Given the description of an element on the screen output the (x, y) to click on. 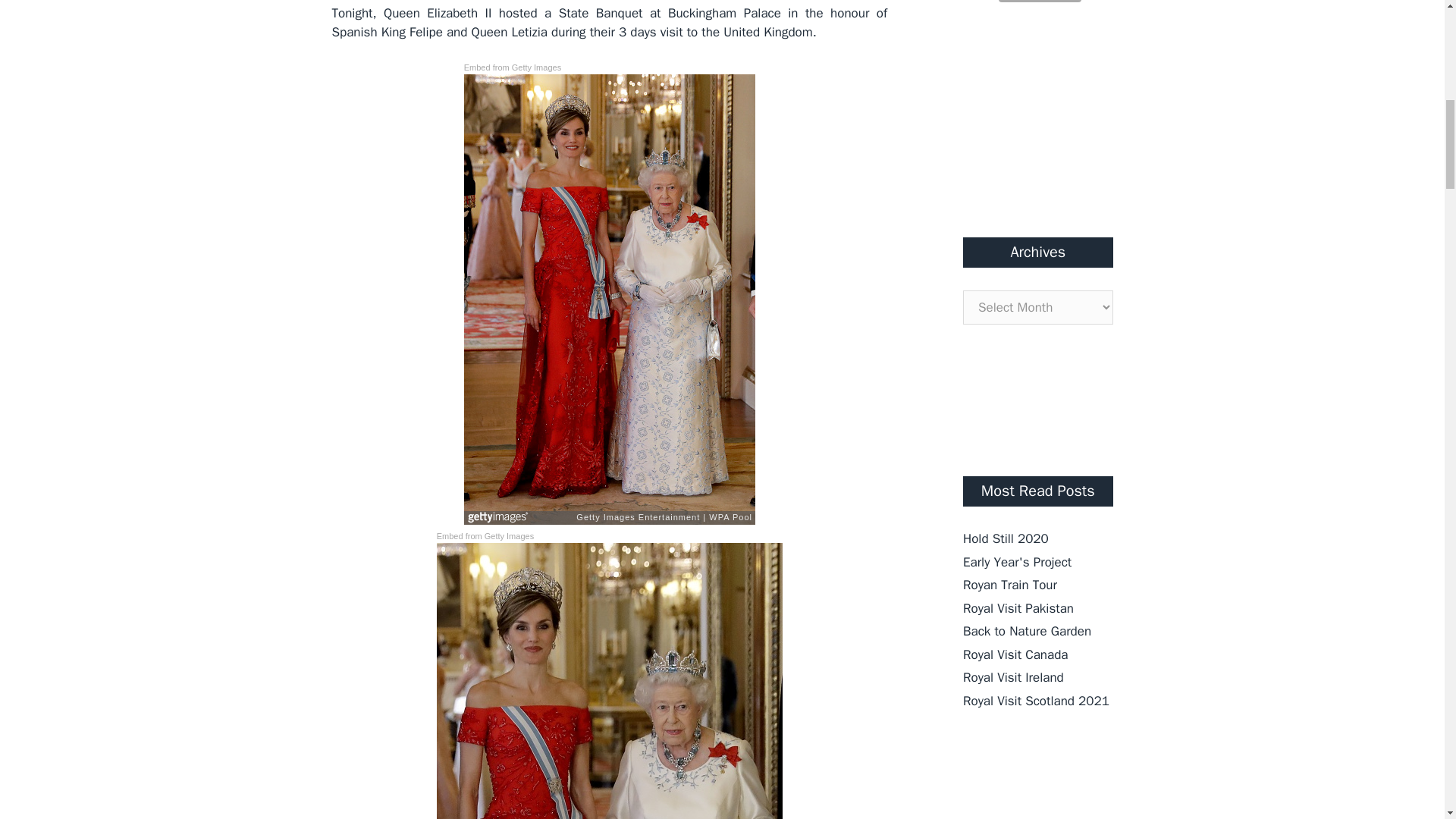
Subscribe (1039, 1)
Embed from Getty Images (485, 535)
Embed from Getty Images (512, 67)
